Given the description of an element on the screen output the (x, y) to click on. 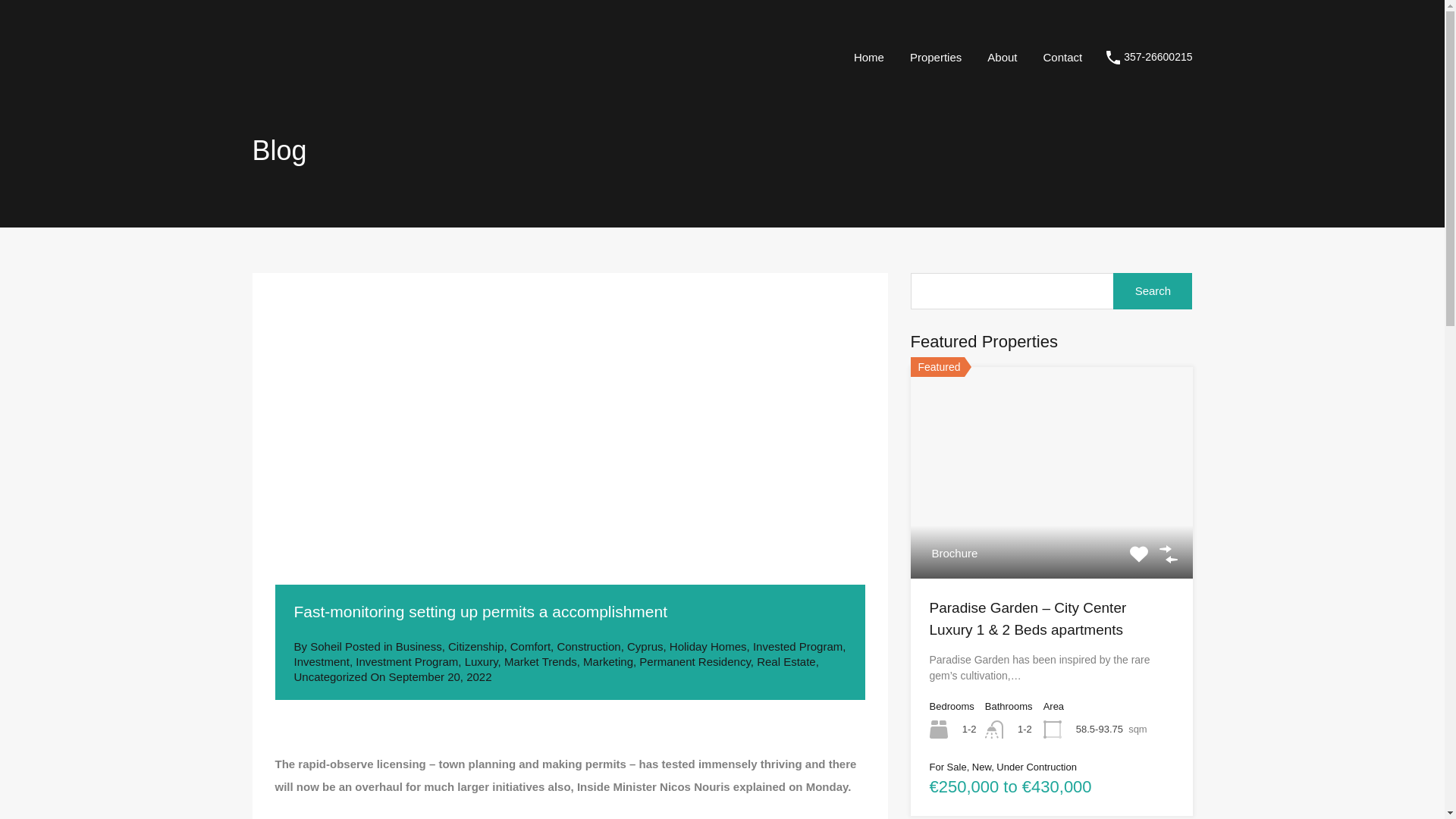
Invested Program (797, 645)
Contact (1061, 56)
Holiday Homes (707, 645)
Search (1152, 290)
Quality Home Developers (315, 91)
Properties (935, 56)
Market Trends (539, 661)
Marketing (608, 661)
Luxury (480, 661)
